Given the description of an element on the screen output the (x, y) to click on. 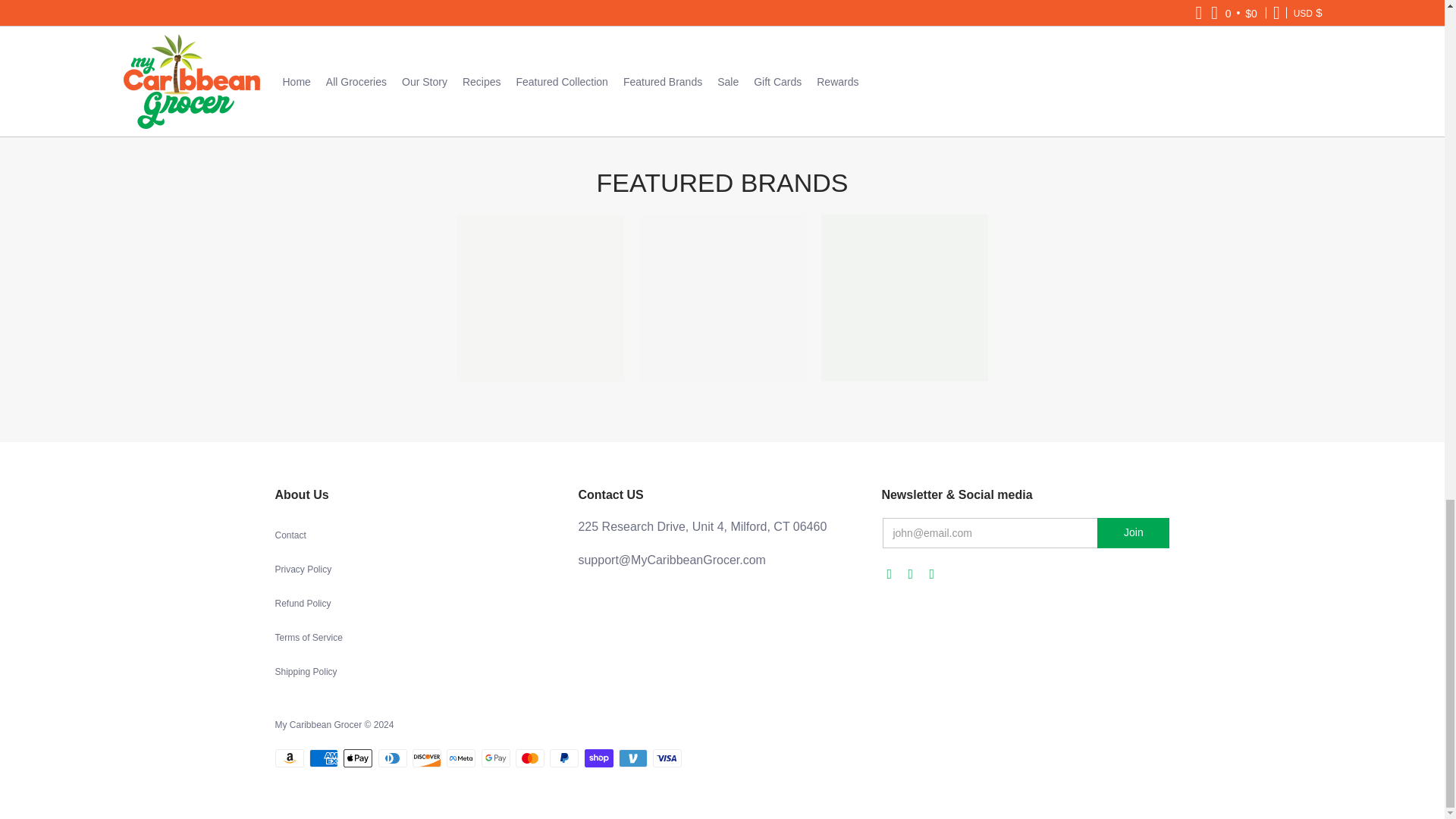
Join (1133, 532)
Shop Pay (598, 758)
PayPal (564, 758)
Visa (666, 758)
Mastercard (529, 758)
American Express (322, 758)
Google Pay (496, 758)
Discover (426, 758)
Diners Club (392, 758)
Amazon (288, 758)
